Given the description of an element on the screen output the (x, y) to click on. 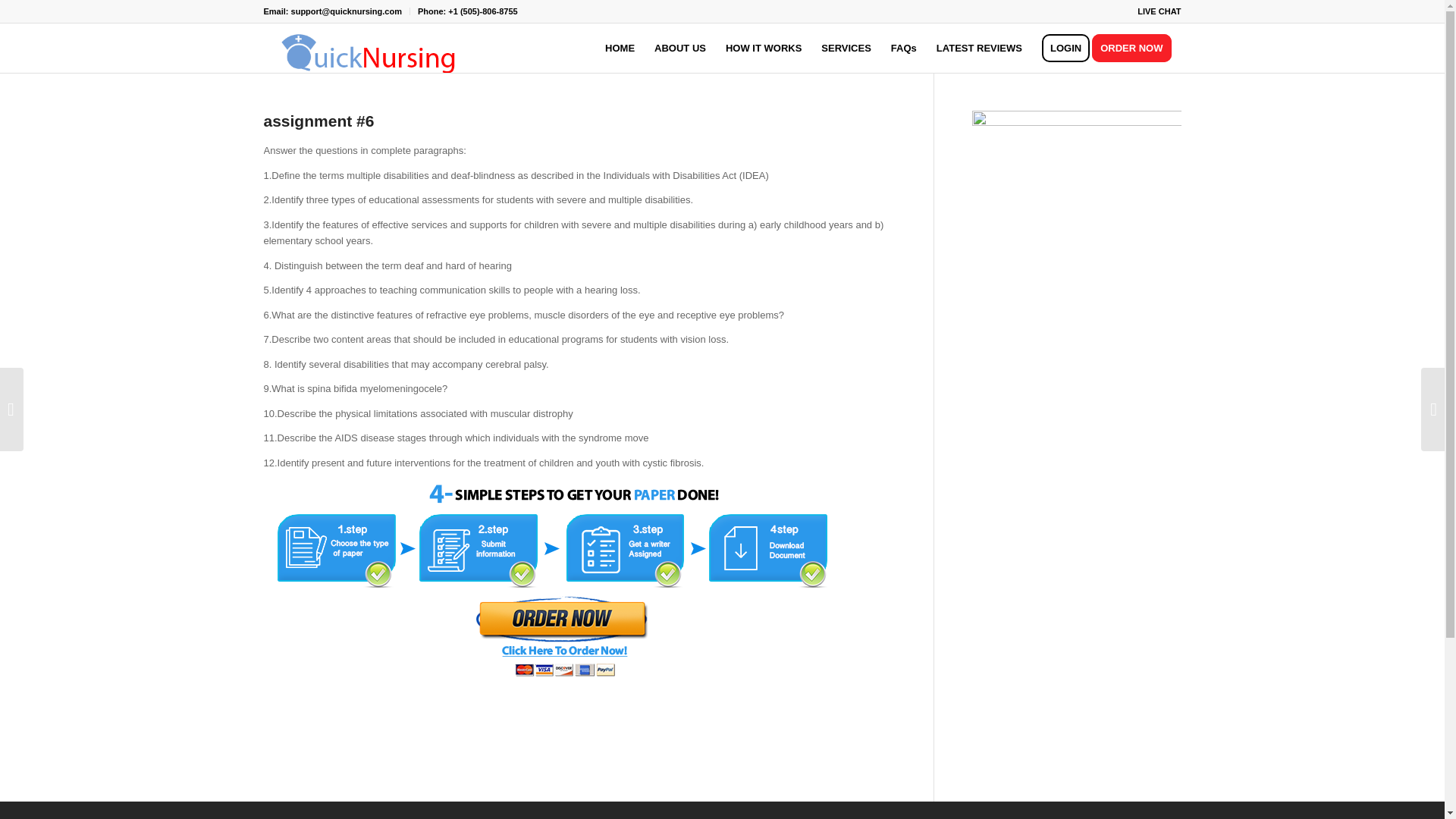
LATEST REVIEWS (979, 47)
SERVICES (845, 47)
LIVE CHAT (1158, 10)
HOME (620, 47)
FAQs (903, 47)
ABOUT US (680, 47)
LOGIN (1065, 47)
HOW IT WORKS (763, 47)
ORDER NOW (1136, 47)
